Given the description of an element on the screen output the (x, y) to click on. 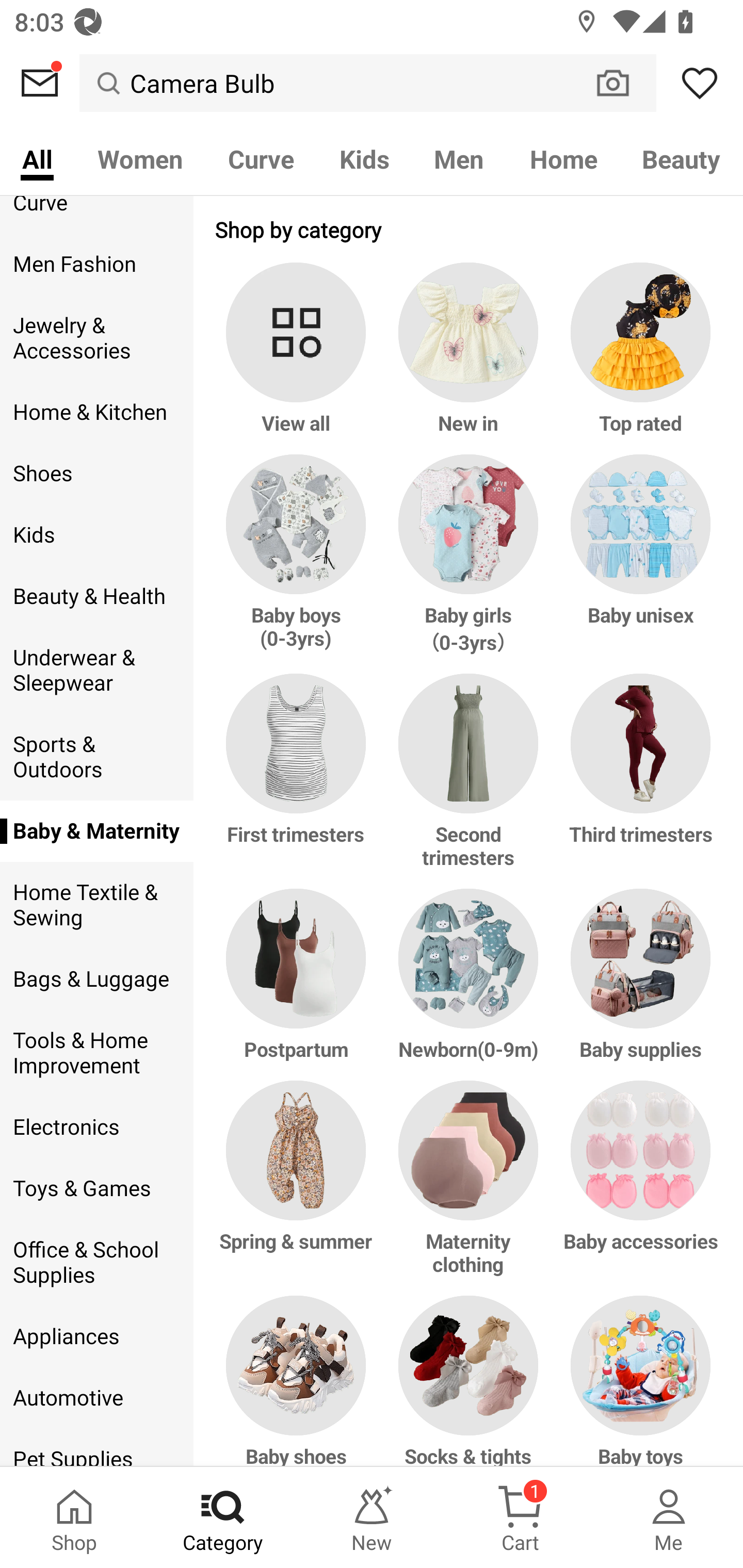
Wishlist (699, 82)
VISUAL SEARCH (623, 82)
All (37, 158)
Women (139, 158)
Curve (260, 158)
Kids (363, 158)
Men (458, 158)
Home (563, 158)
Beauty (681, 158)
Curve (96, 214)
Shop by category (468, 228)
Men Fashion (96, 263)
View all (299, 357)
New in (468, 357)
Top rated (636, 357)
Jewelry & Accessories (96, 337)
Home & Kitchen (96, 412)
Shoes (96, 473)
Baby boys
(0-3yrs) (299, 564)
Baby girls（0-3yrs） (468, 564)
Baby unisex (636, 564)
Kids (96, 535)
Beauty & Health (96, 596)
Underwear & Sleepwear (96, 670)
First trimesters (299, 781)
Second trimesters (468, 781)
Third trimesters (636, 781)
Sports & Outdoors (96, 757)
Baby & Maternity (96, 831)
Home Textile & Sewing (96, 905)
Postpartum (299, 984)
Newborn(0-9m) (468, 984)
Baby supplies (636, 984)
Bags & Luggage (96, 978)
Tools & Home Improvement (96, 1052)
Spring & summer (299, 1187)
Maternity clothing (468, 1187)
Baby accessories (636, 1187)
Electronics (96, 1126)
Toys & Games (96, 1188)
Office & School Supplies (96, 1262)
Baby shoes (299, 1380)
Socks & tights (468, 1380)
Baby toys (636, 1380)
Appliances (96, 1336)
Automotive (96, 1397)
Pet Supplies (96, 1447)
Shop (74, 1517)
New (371, 1517)
Cart 1 Cart (519, 1517)
Me (668, 1517)
